Given the description of an element on the screen output the (x, y) to click on. 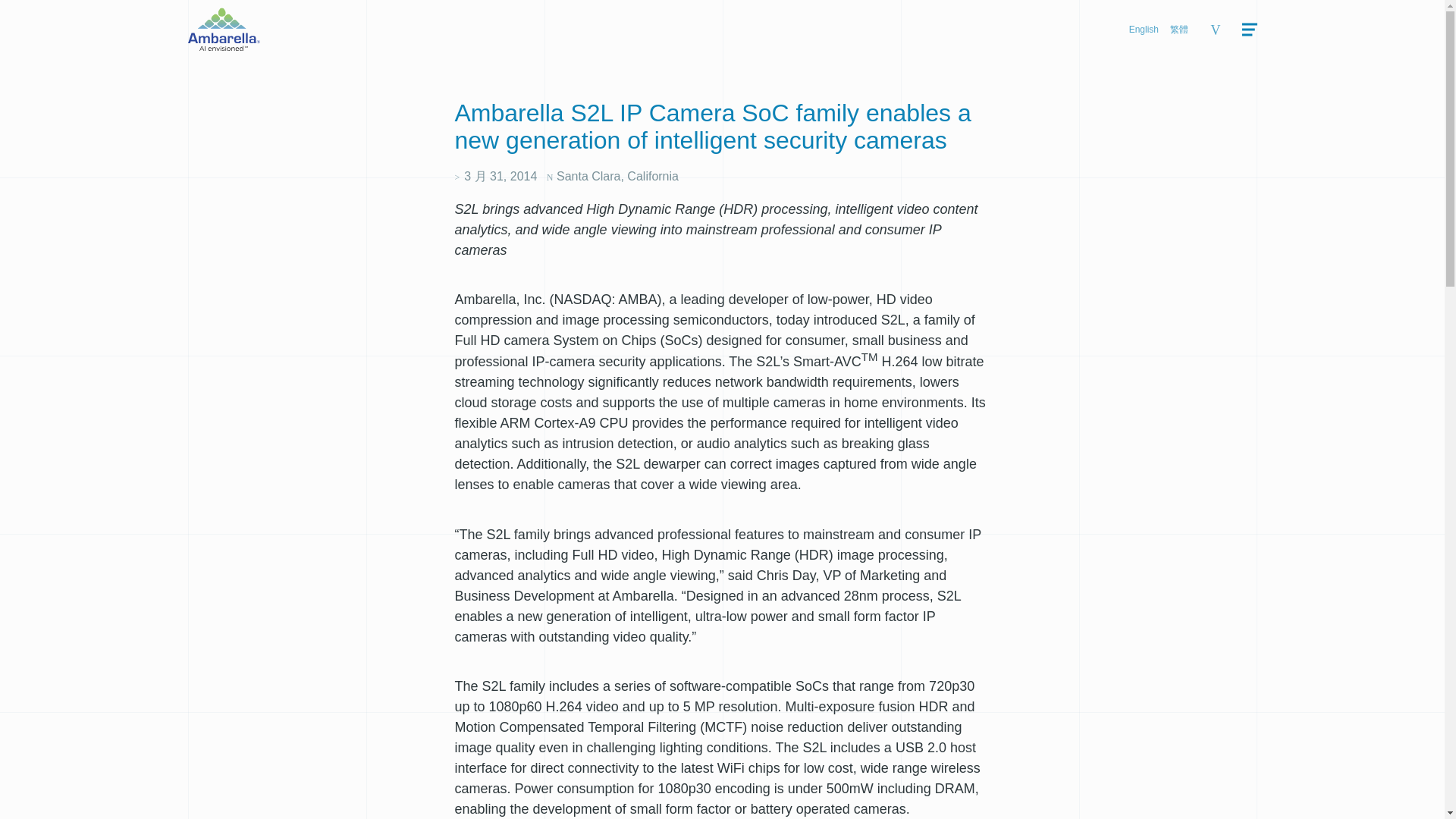
English (1143, 29)
Home (223, 46)
Home (223, 28)
